Given the description of an element on the screen output the (x, y) to click on. 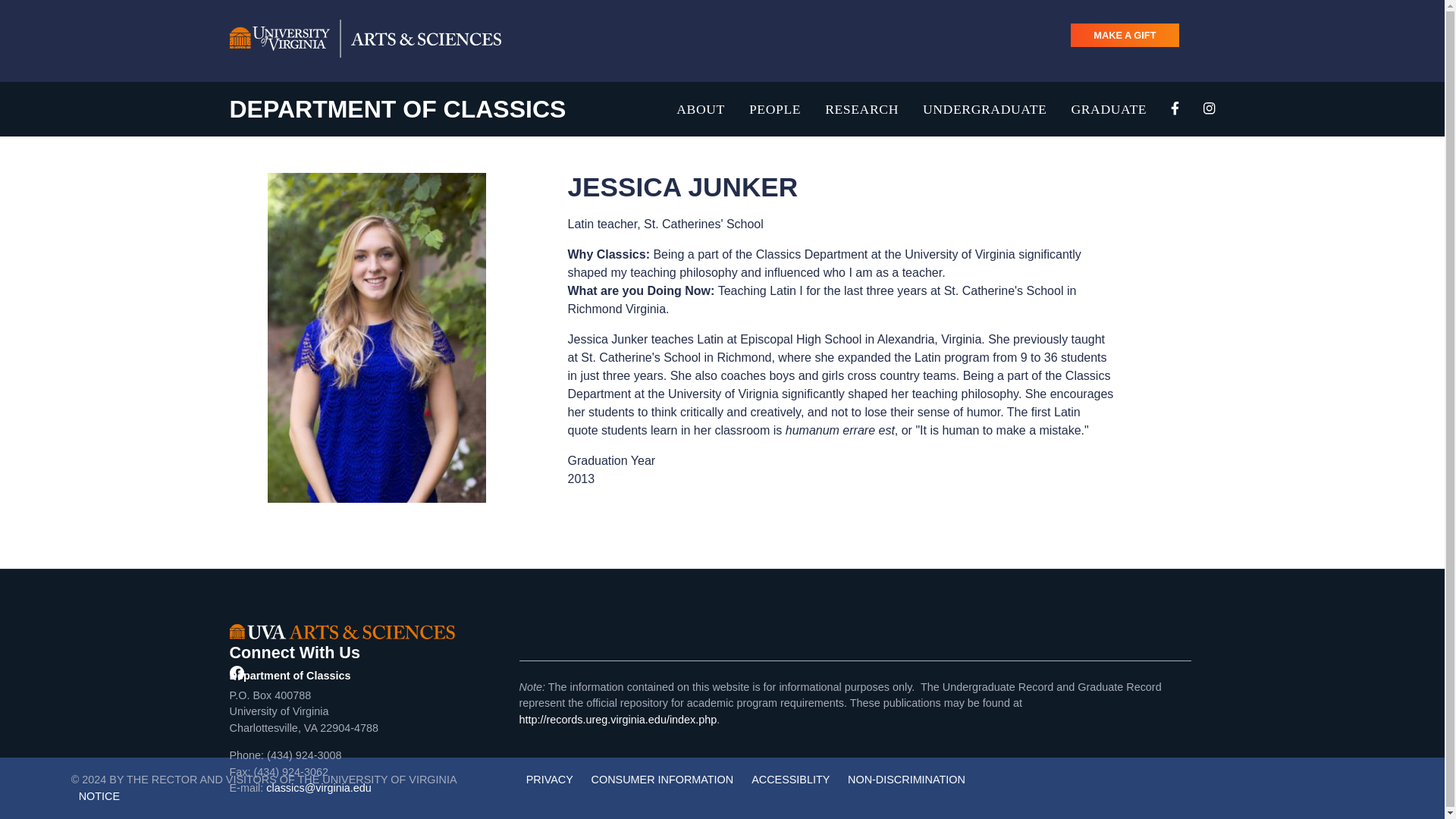
MAKE A GIFT (1123, 34)
DEPARTMENT OF CLASSICS (397, 108)
GRADUATE (1108, 108)
PEOPLE (774, 108)
UNDERGRADUATE (984, 108)
RESEARCH (861, 108)
ABOUT (701, 108)
